Given the description of an element on the screen output the (x, y) to click on. 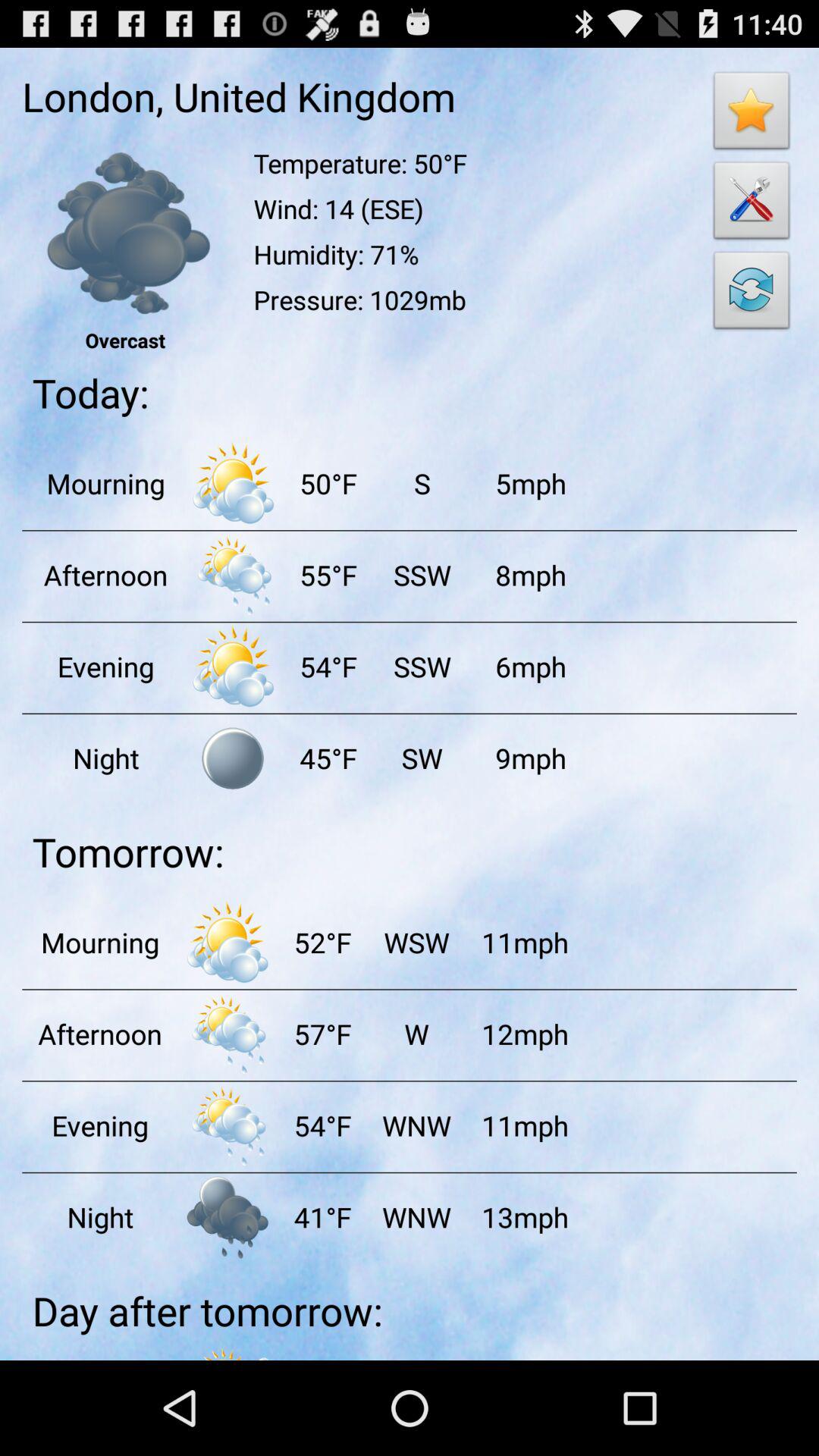
show precipitation information for tomorrow afternoon (227, 1033)
